Given the description of an element on the screen output the (x, y) to click on. 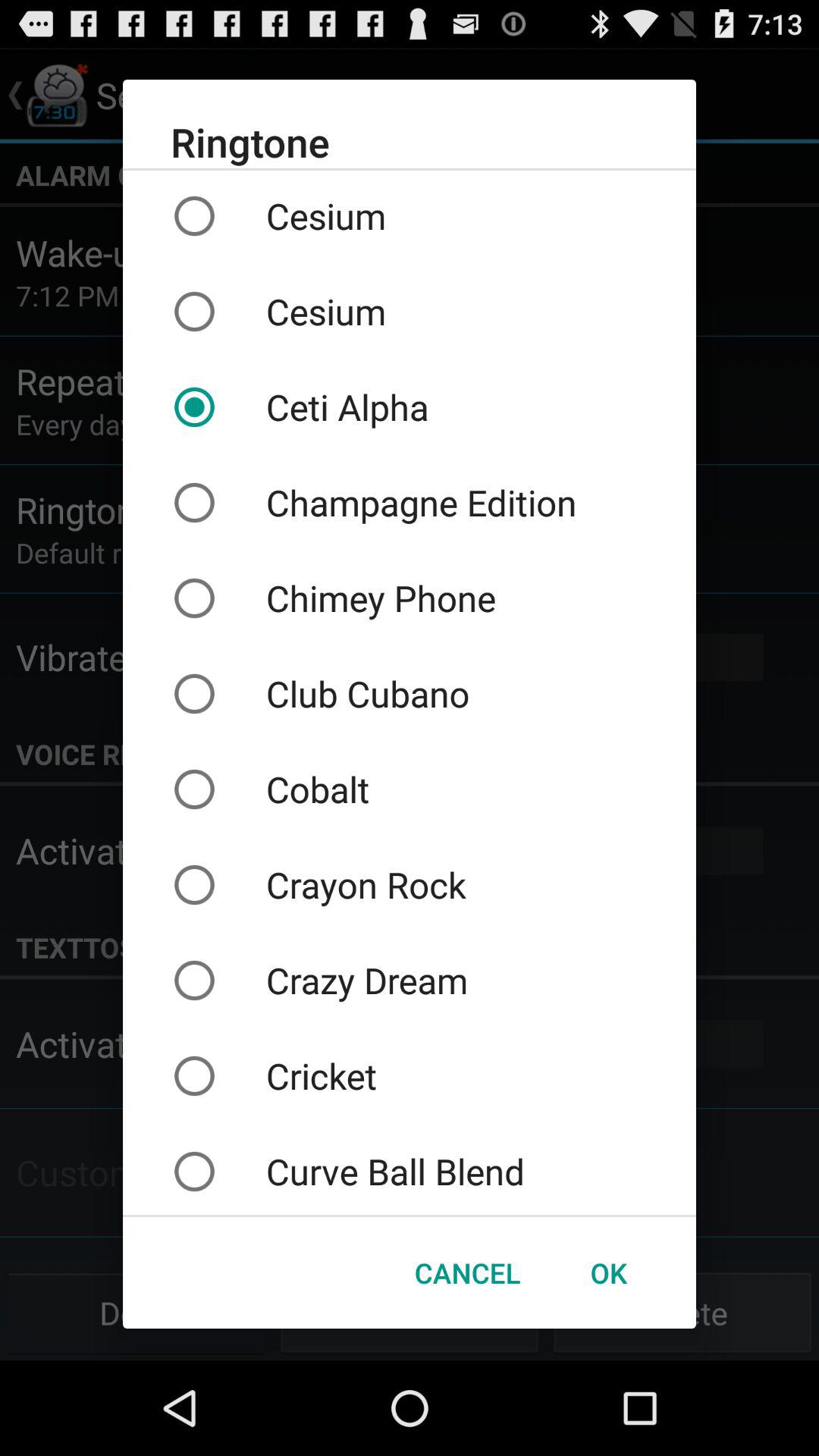
tap the checkbox below the curve ball blend checkbox (467, 1272)
